Given the description of an element on the screen output the (x, y) to click on. 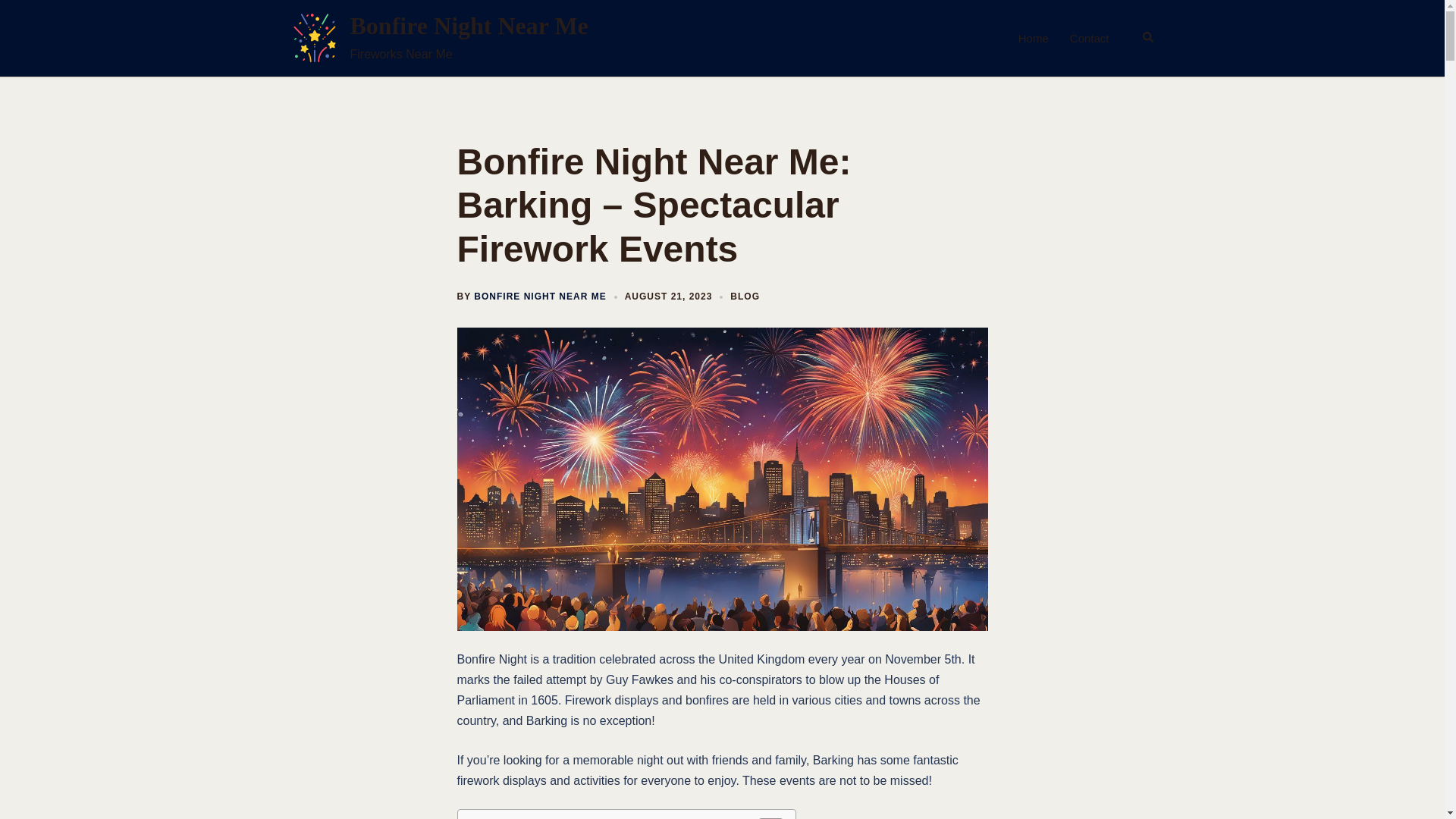
Home (1032, 38)
BONFIRE NIGHT NEAR ME (539, 296)
Bonfire Night Near Me (313, 37)
Bonfire Night Near Me (469, 25)
Search (1147, 37)
Contact (1089, 38)
AUGUST 21, 2023 (668, 296)
BLOG (745, 296)
